Given the description of an element on the screen output the (x, y) to click on. 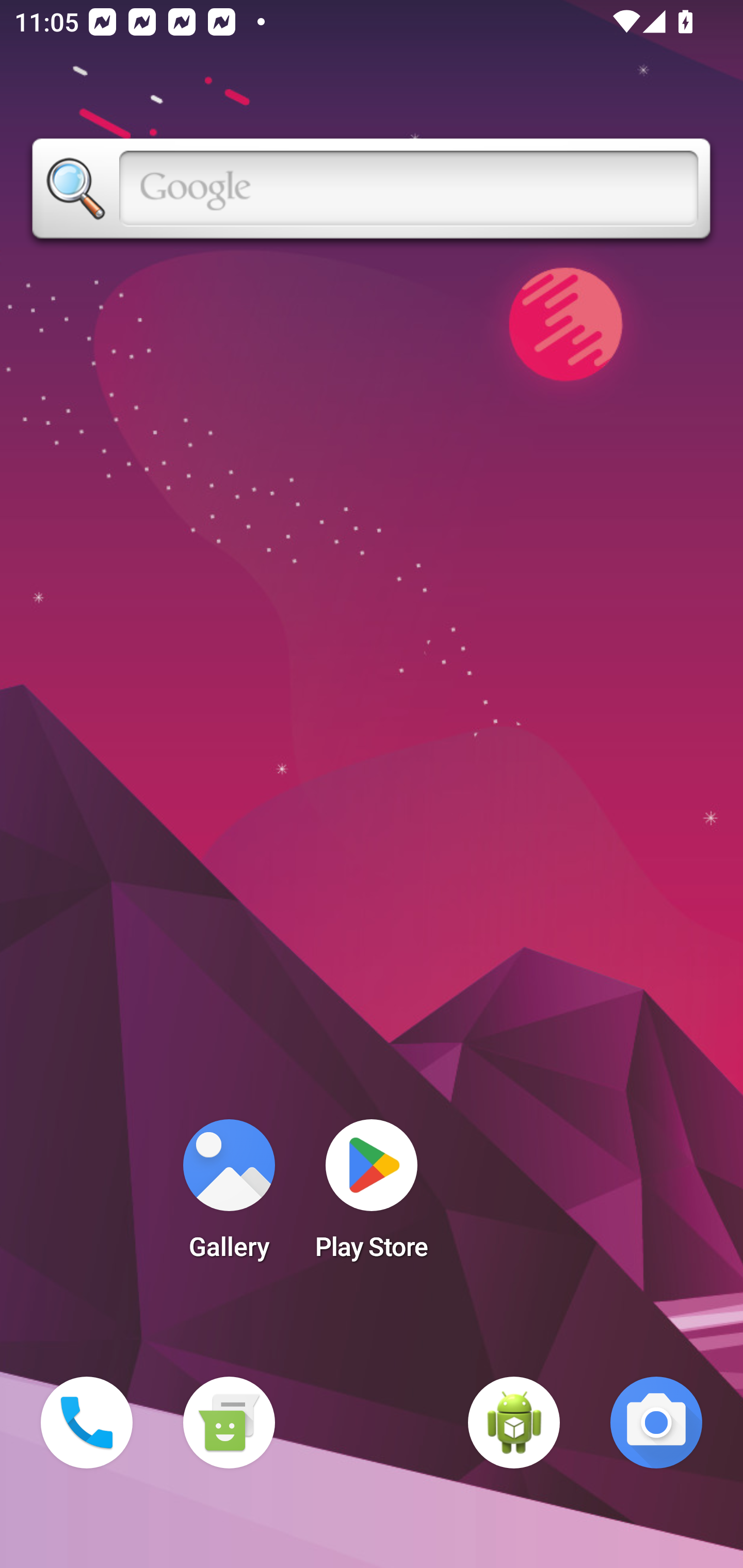
Gallery (228, 1195)
Play Store (371, 1195)
Phone (86, 1422)
Messaging (228, 1422)
WebView Browser Tester (513, 1422)
Camera (656, 1422)
